Given the description of an element on the screen output the (x, y) to click on. 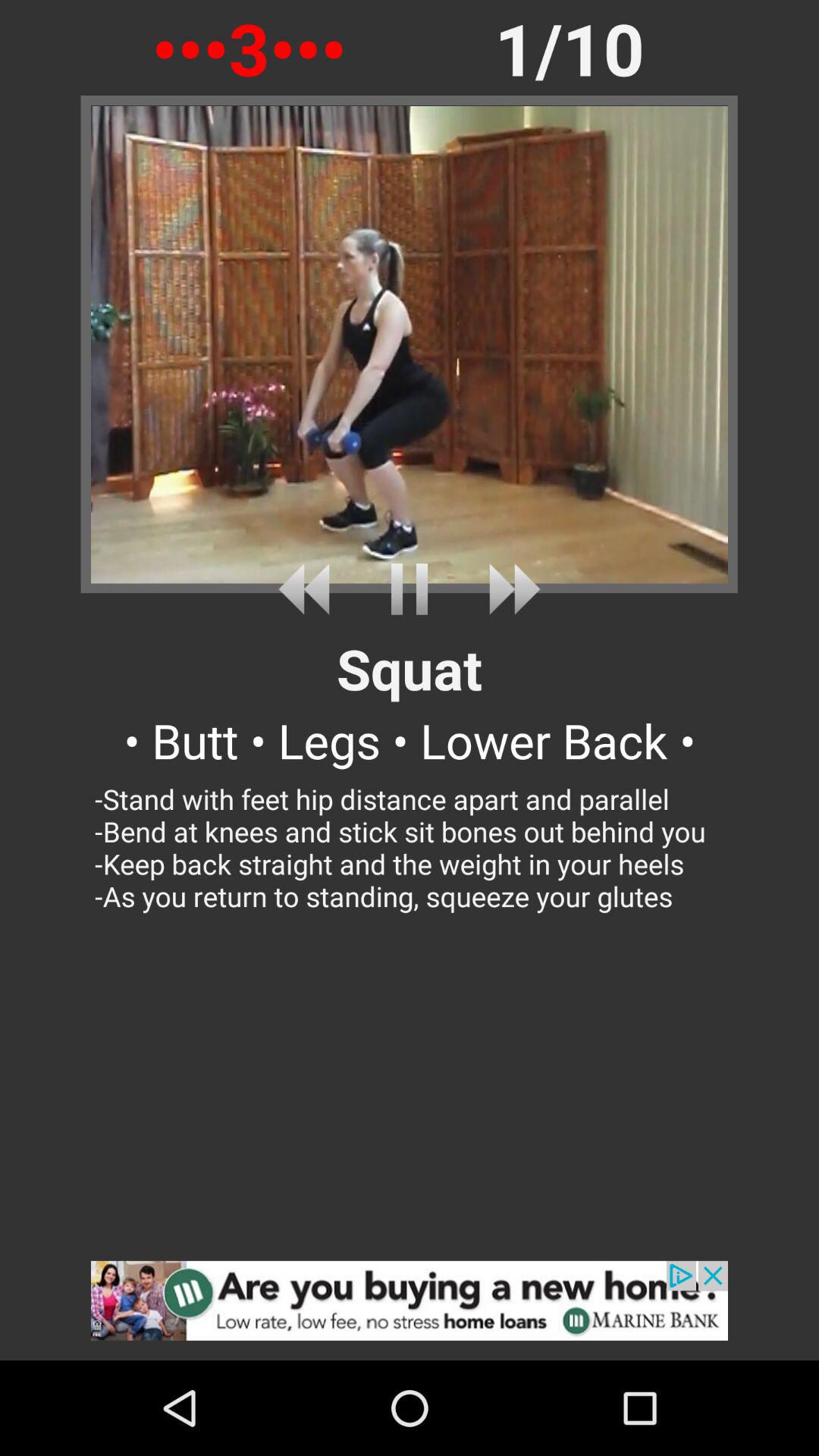
fast forward (508, 589)
